Given the description of an element on the screen output the (x, y) to click on. 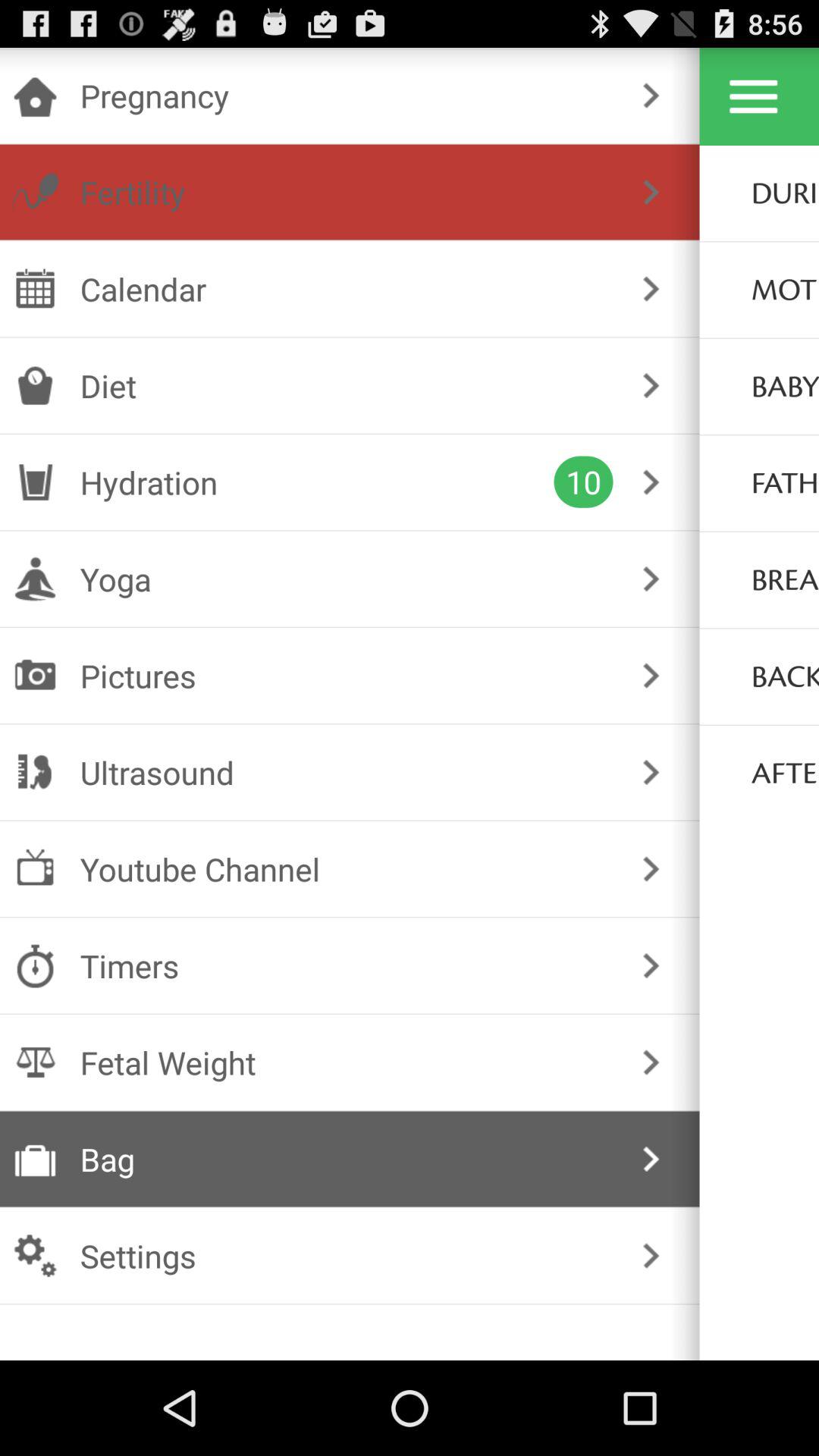
jump to the ultrasound checkbox (346, 771)
